Given the description of an element on the screen output the (x, y) to click on. 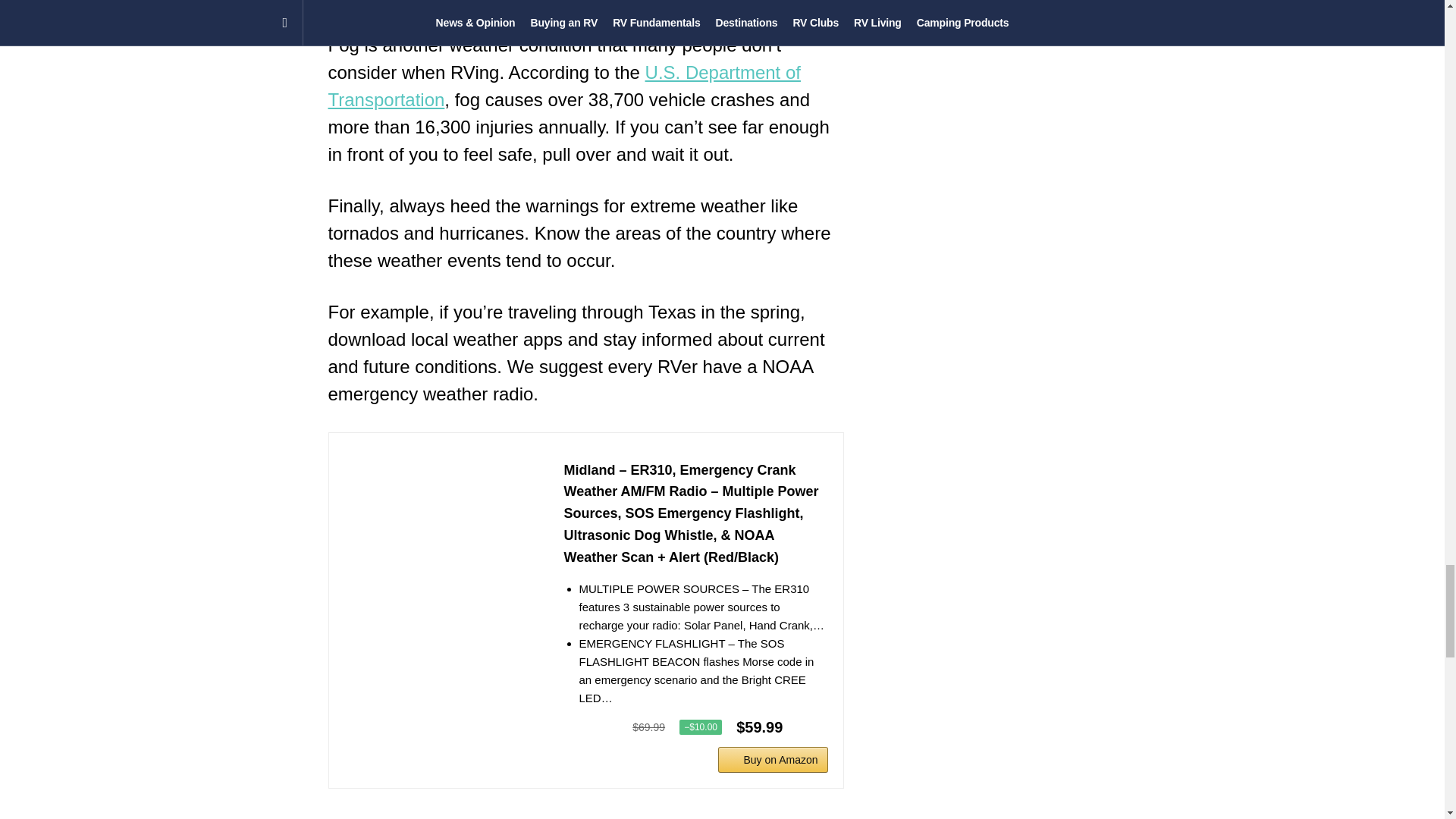
Buy on Amazon (772, 759)
Amazon Prime (806, 725)
